Given the description of an element on the screen output the (x, y) to click on. 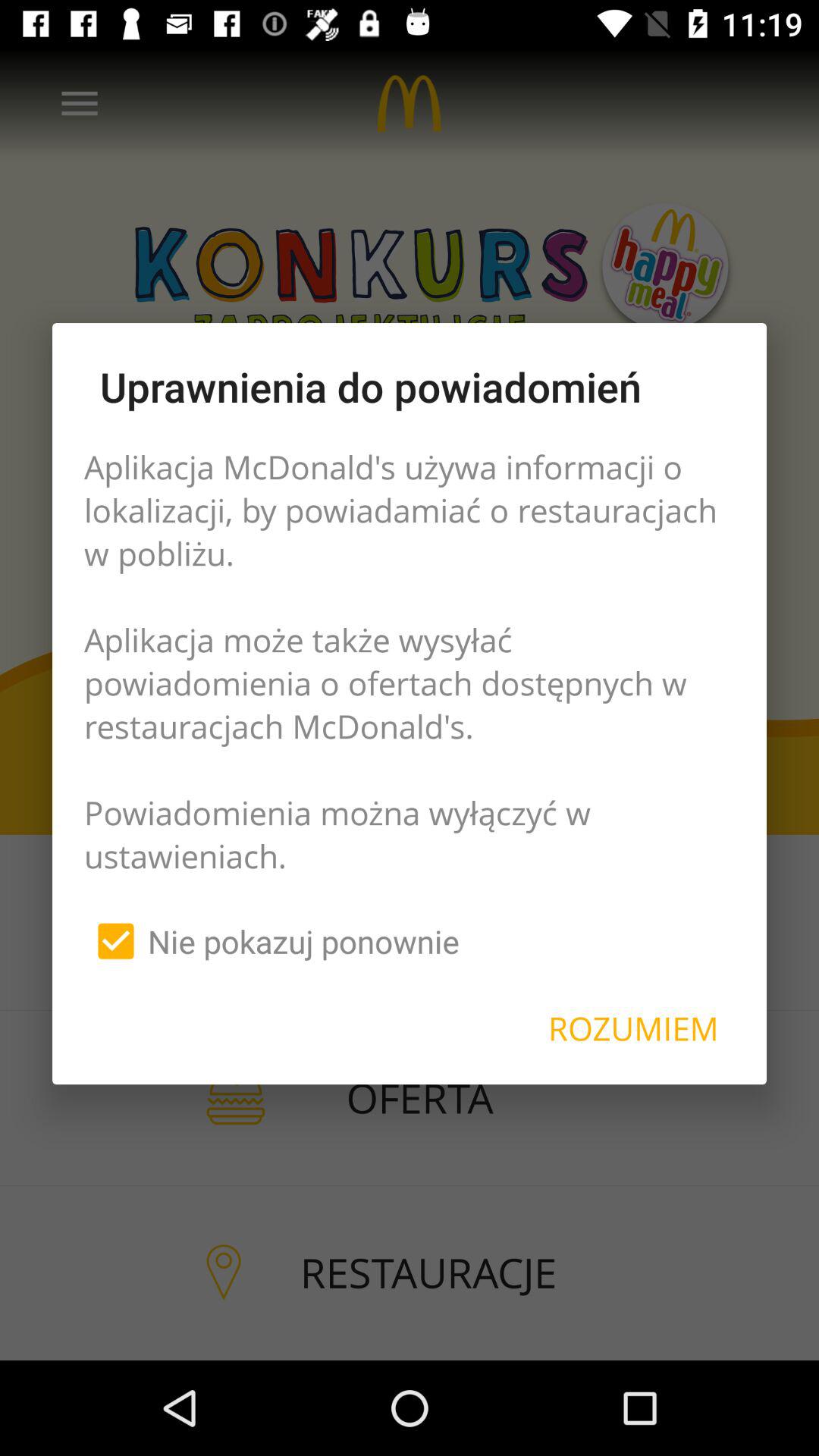
swipe until rozumiem item (633, 1028)
